Given the description of an element on the screen output the (x, y) to click on. 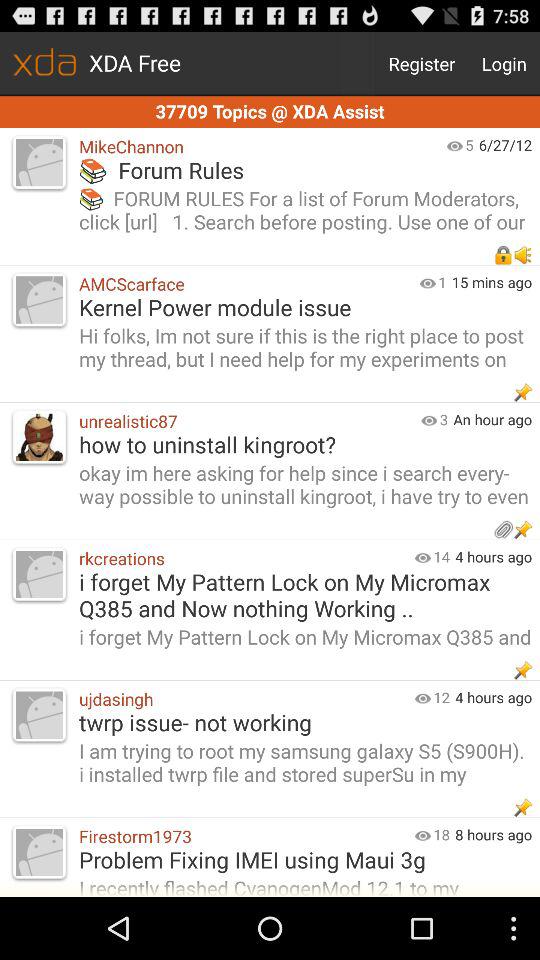
flip until the 5 item (469, 144)
